Given the description of an element on the screen output the (x, y) to click on. 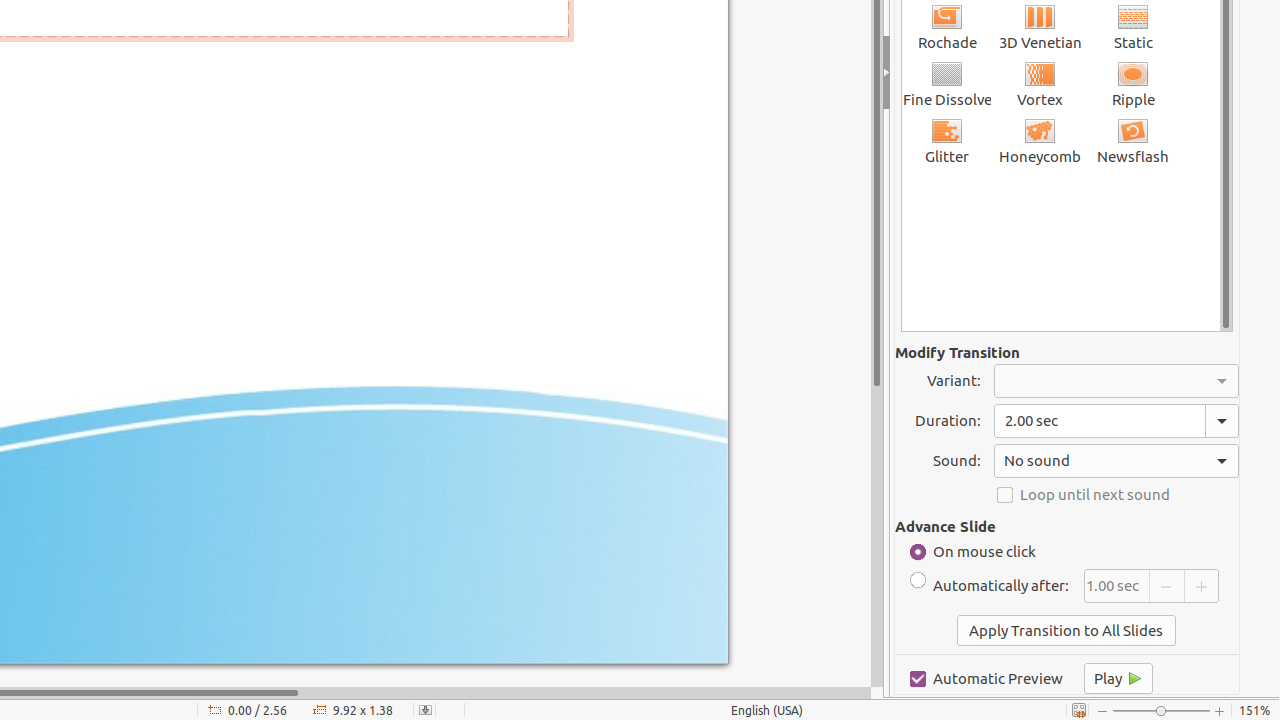
Sound: Element type: combo-box (1116, 461)
Honeycomb Element type: list-item (1040, 140)
Duration: Element type: combo-box (1116, 420)
Automatically after: Element type: radio-button (989, 586)
Ripple Element type: list-item (1133, 83)
